Given the description of an element on the screen output the (x, y) to click on. 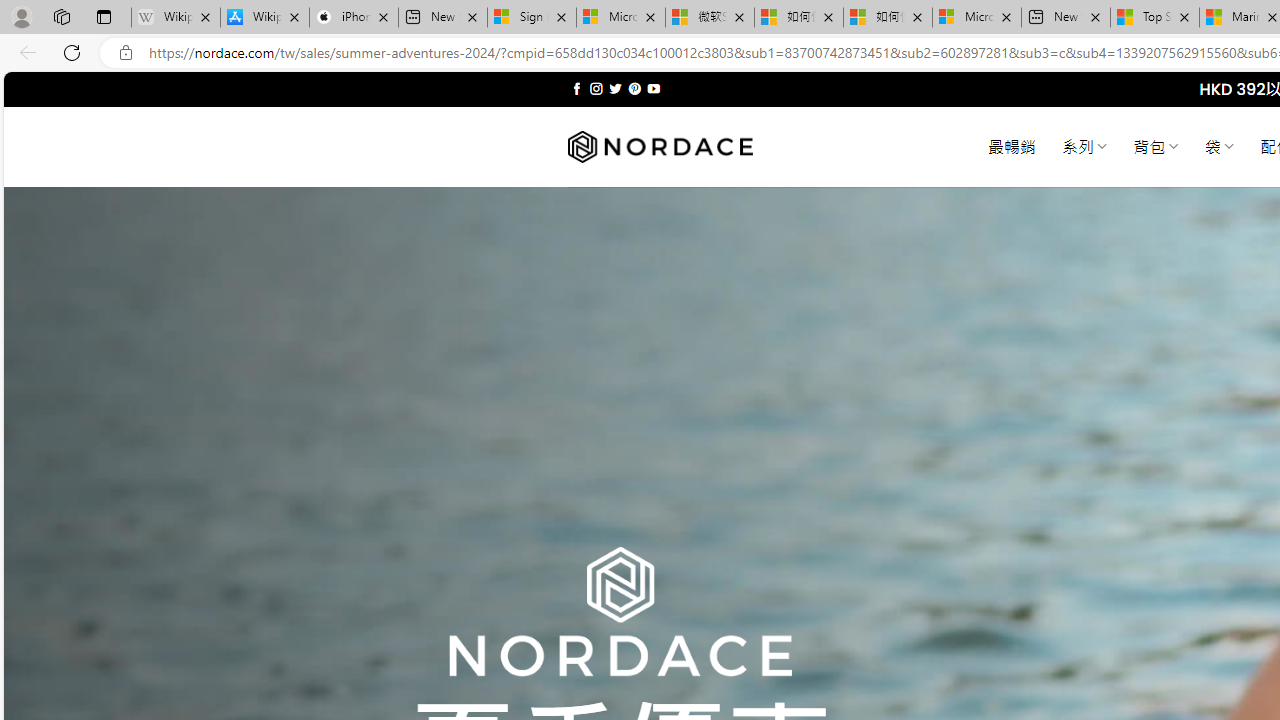
Microsoft account | Account Checkup (977, 17)
Follow on Twitter (615, 88)
iPhone - Apple (353, 17)
Follow on YouTube (653, 88)
Microsoft Services Agreement (621, 17)
